Given the description of an element on the screen output the (x, y) to click on. 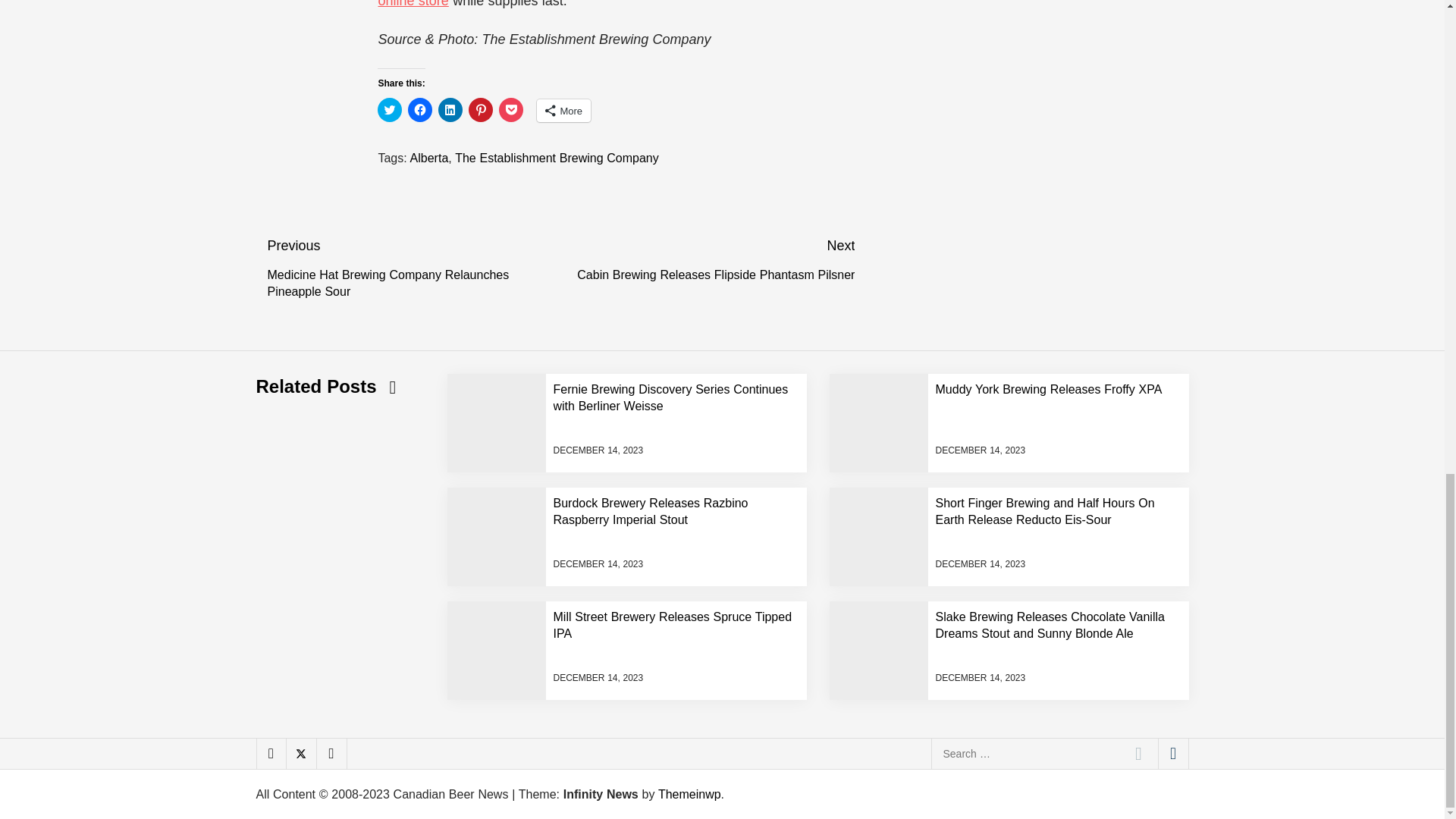
Search (1138, 752)
online store (412, 4)
Search (1138, 752)
More (564, 110)
Click to share on Facebook (419, 109)
Click to share on LinkedIn (450, 109)
Click to share on Pinterest (480, 109)
Click to share on Twitter (389, 109)
